Given the description of an element on the screen output the (x, y) to click on. 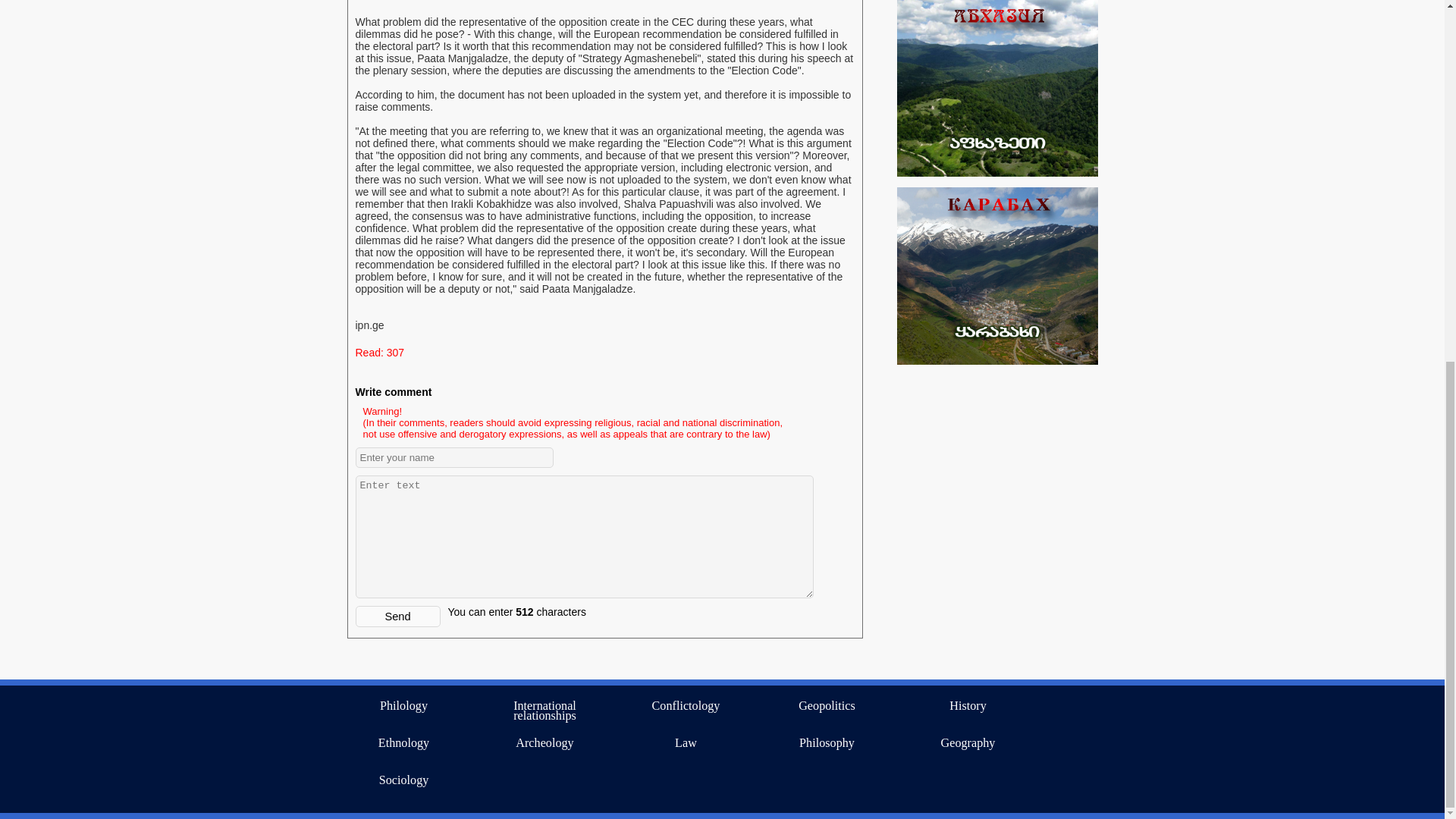
The IRGC and the 'Iranian revenge' issue (989, 502)
President pardons 22 convicts (974, 465)
Write comment (392, 391)
Rains in forecast across Georgia in coming days (980, 62)
